Given the description of an element on the screen output the (x, y) to click on. 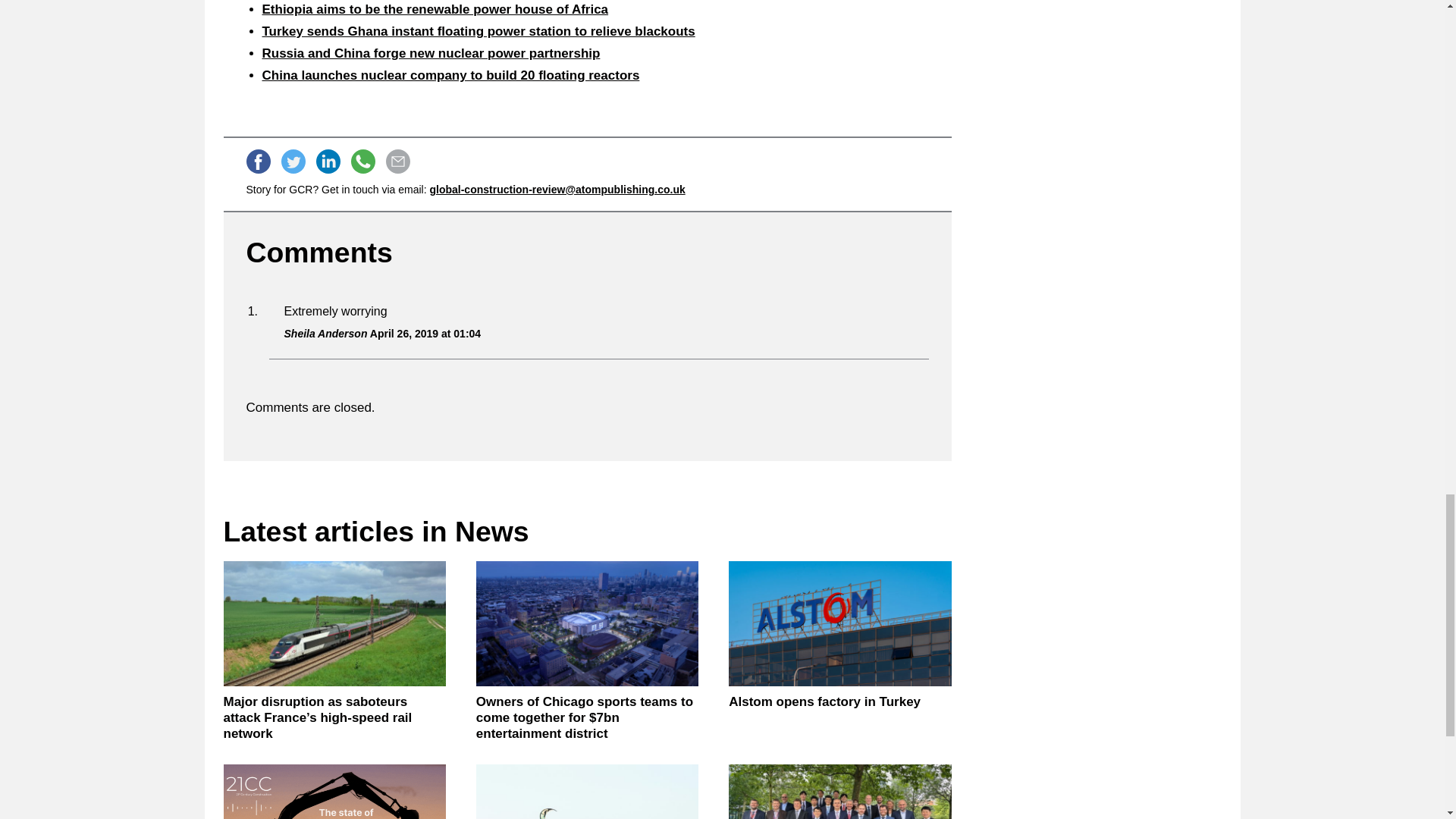
Share on LinkedIn (327, 161)
Share on Facebook (257, 161)
Share on WhatsApp (362, 161)
Tweet (292, 161)
Send email (397, 161)
